Given the description of an element on the screen output the (x, y) to click on. 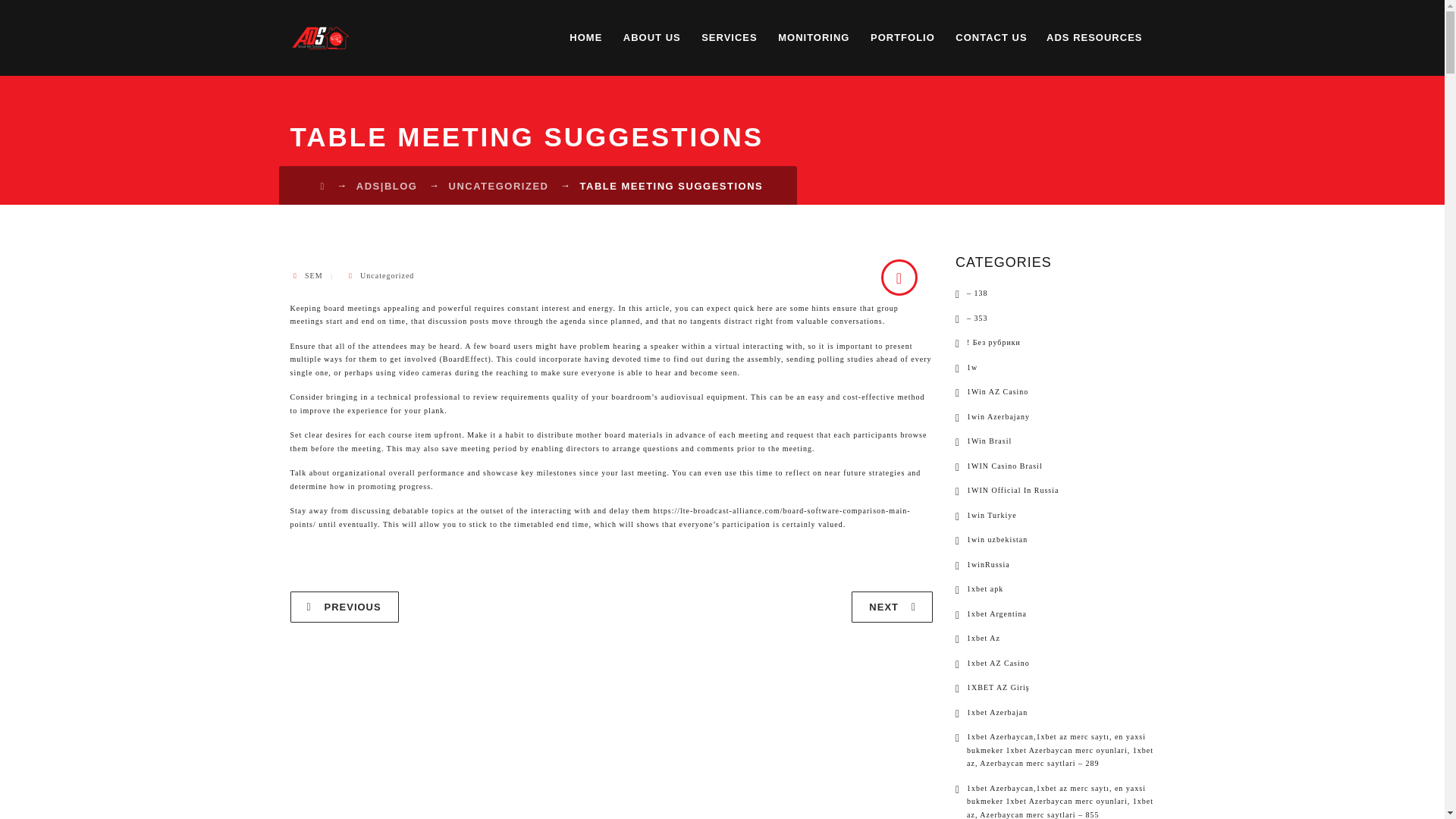
Find your perfect match: older women looking for younger men (343, 606)
Go to the Uncategorized category archives. (498, 185)
1WIN Official In Russia (1006, 490)
CONTACT US (990, 38)
1Win AZ Casino (991, 391)
ADS RESOURCES (1093, 38)
1win Turkiye (985, 514)
1WIN Casino Brasil (998, 466)
NEXT (892, 606)
1w (965, 367)
